Given the description of an element on the screen output the (x, y) to click on. 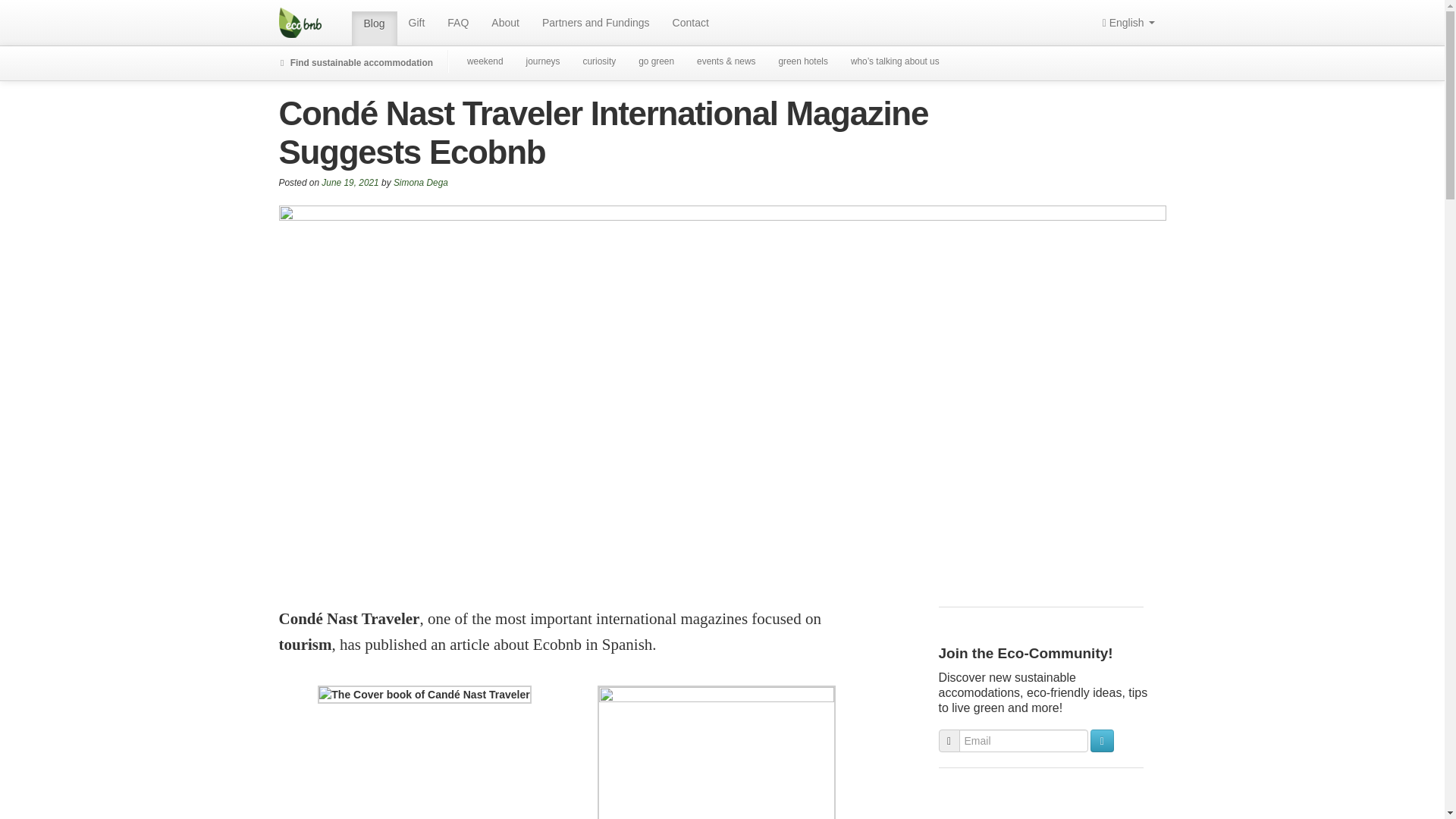
weekend (485, 61)
Gift (416, 22)
Partners and Fundings (596, 22)
curiosity (599, 61)
June 19, 2021 (349, 182)
8:00 am (349, 182)
Contact (690, 22)
Blog (374, 28)
Give a green travel as a gift (416, 22)
English (1128, 22)
